Given the description of an element on the screen output the (x, y) to click on. 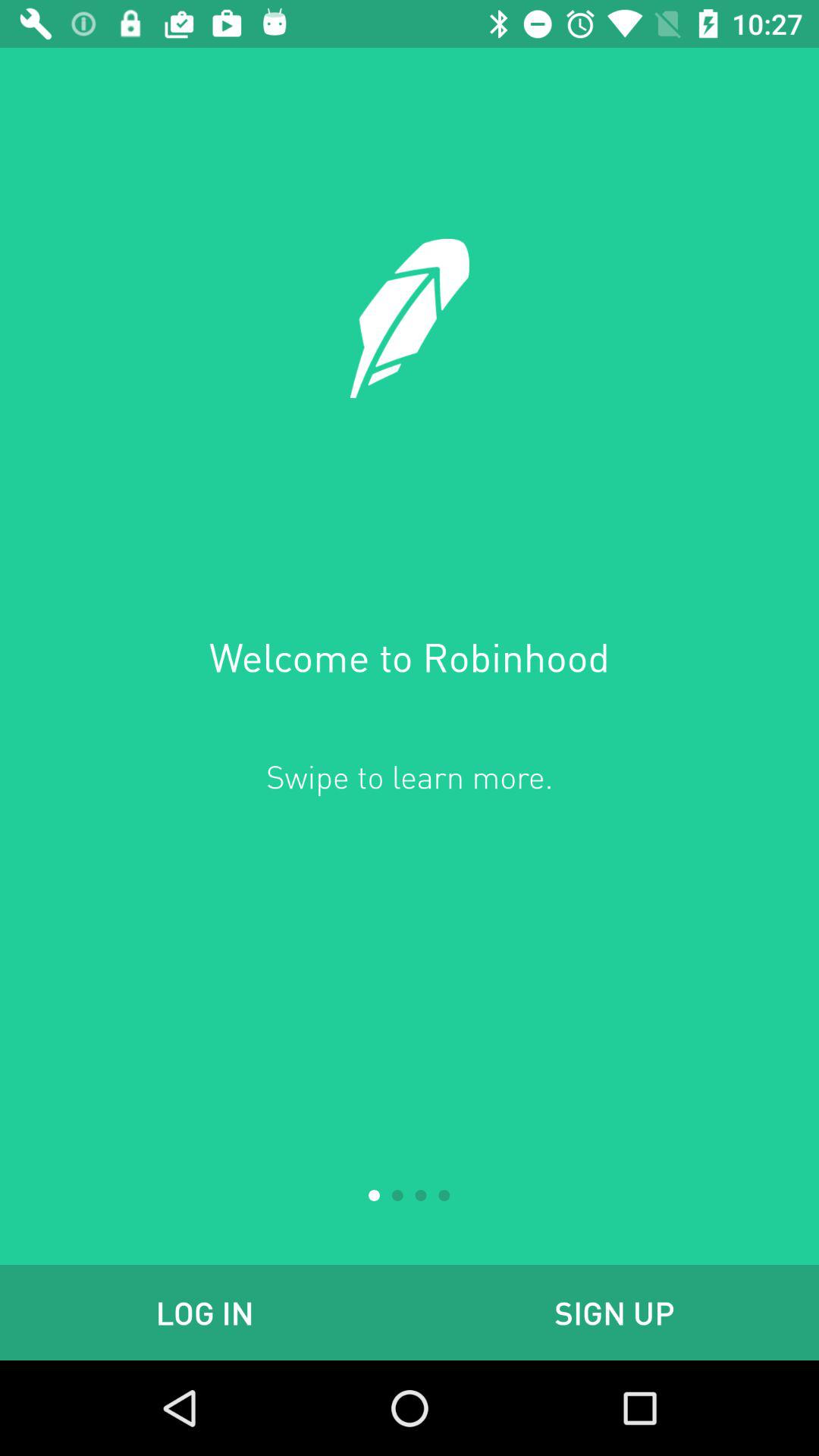
turn on icon next to the sign up item (204, 1312)
